Given the description of an element on the screen output the (x, y) to click on. 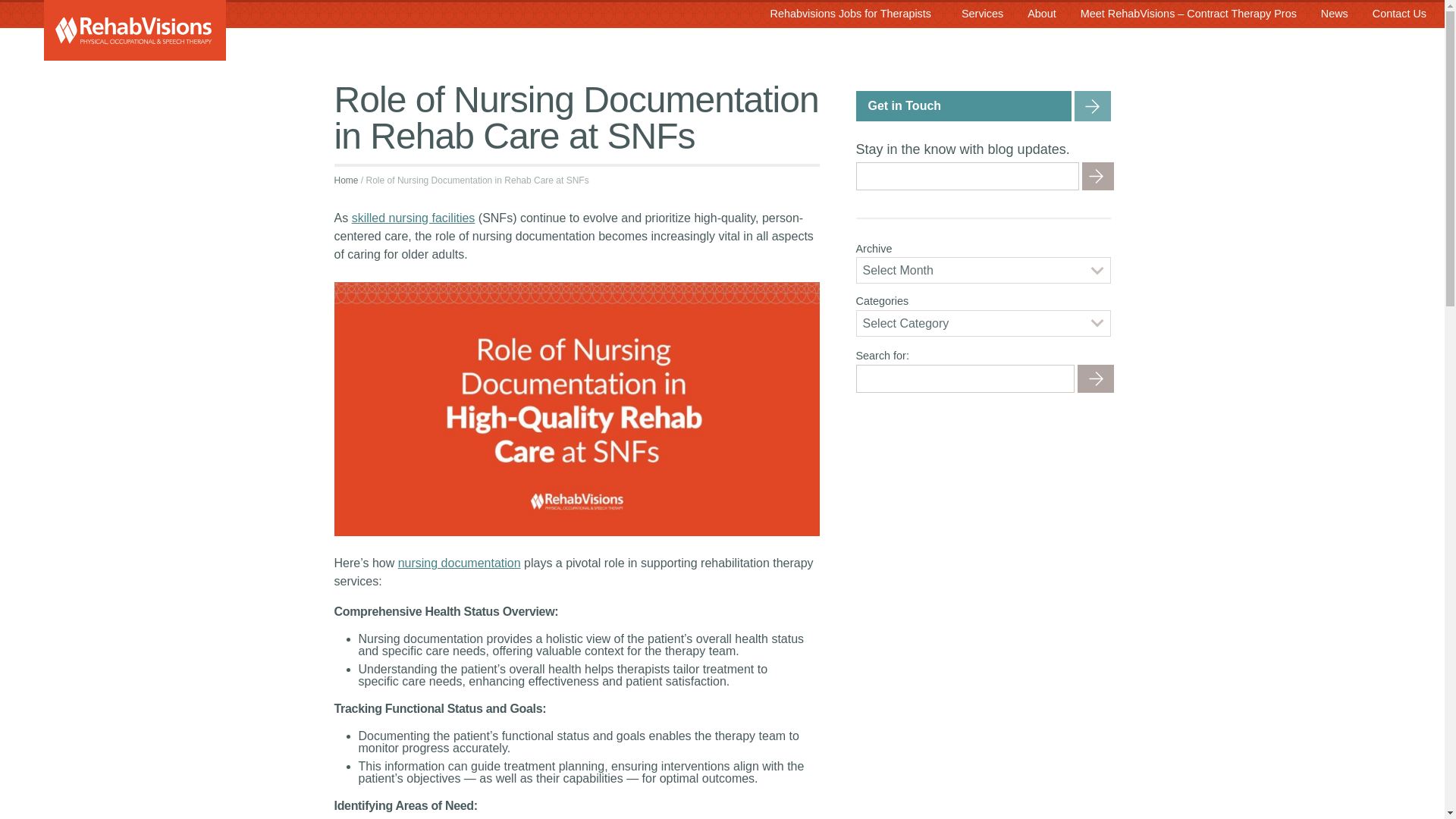
About (1041, 14)
Get in Touch (982, 105)
Contact Us (1398, 14)
Search (1095, 378)
Subscribe (1097, 176)
skilled nursing facilities (414, 217)
Home (345, 180)
News (1333, 14)
nursing documentation (459, 562)
Rehabvisions Jobs for Therapists (850, 14)
